Given the description of an element on the screen output the (x, y) to click on. 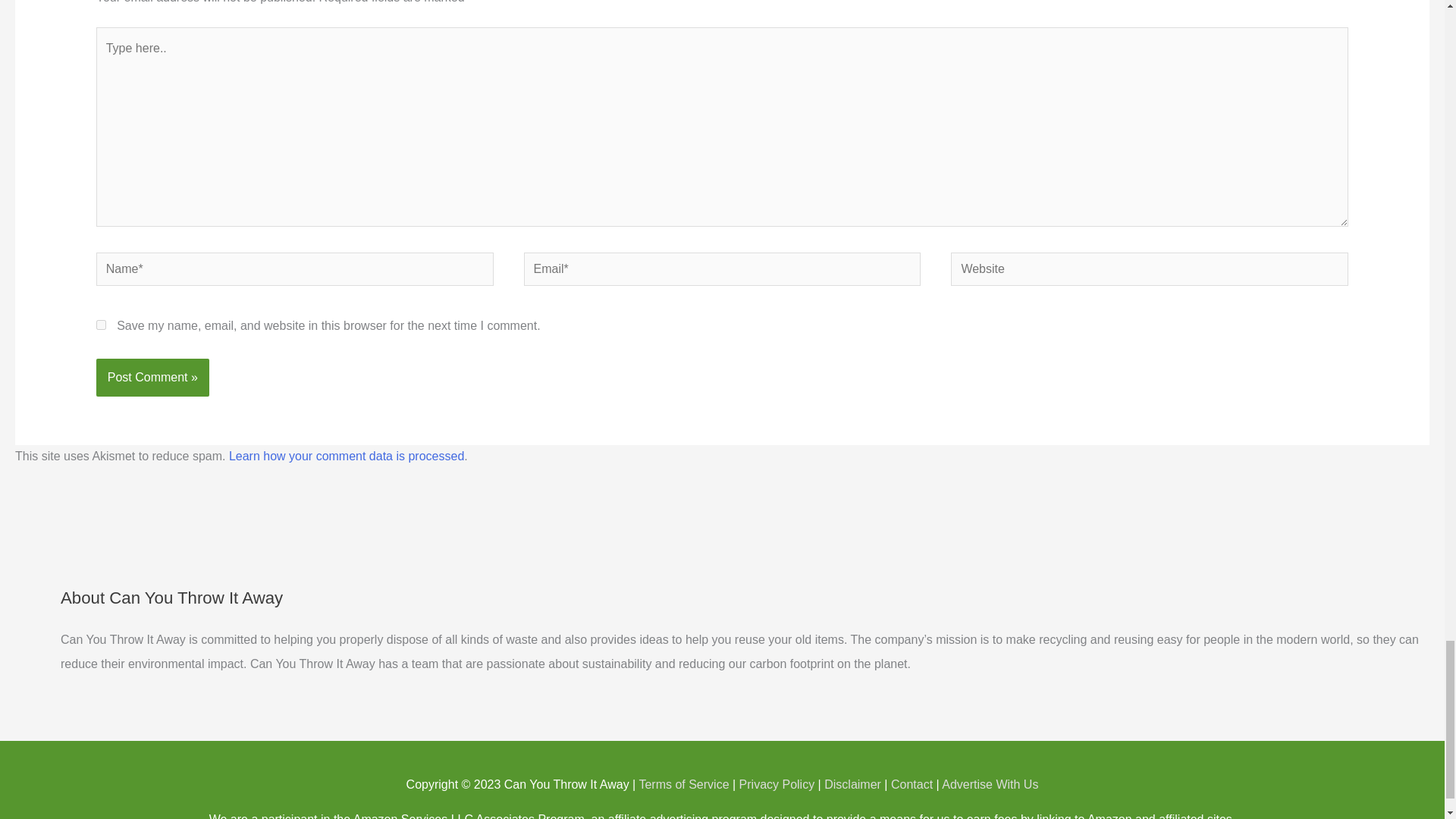
Contact (912, 784)
yes (101, 325)
Privacy Policy (777, 784)
Disclaimer (852, 784)
Advertise With Us (990, 784)
Learn how your comment data is processed (346, 455)
Terms of Service (684, 784)
